Given the description of an element on the screen output the (x, y) to click on. 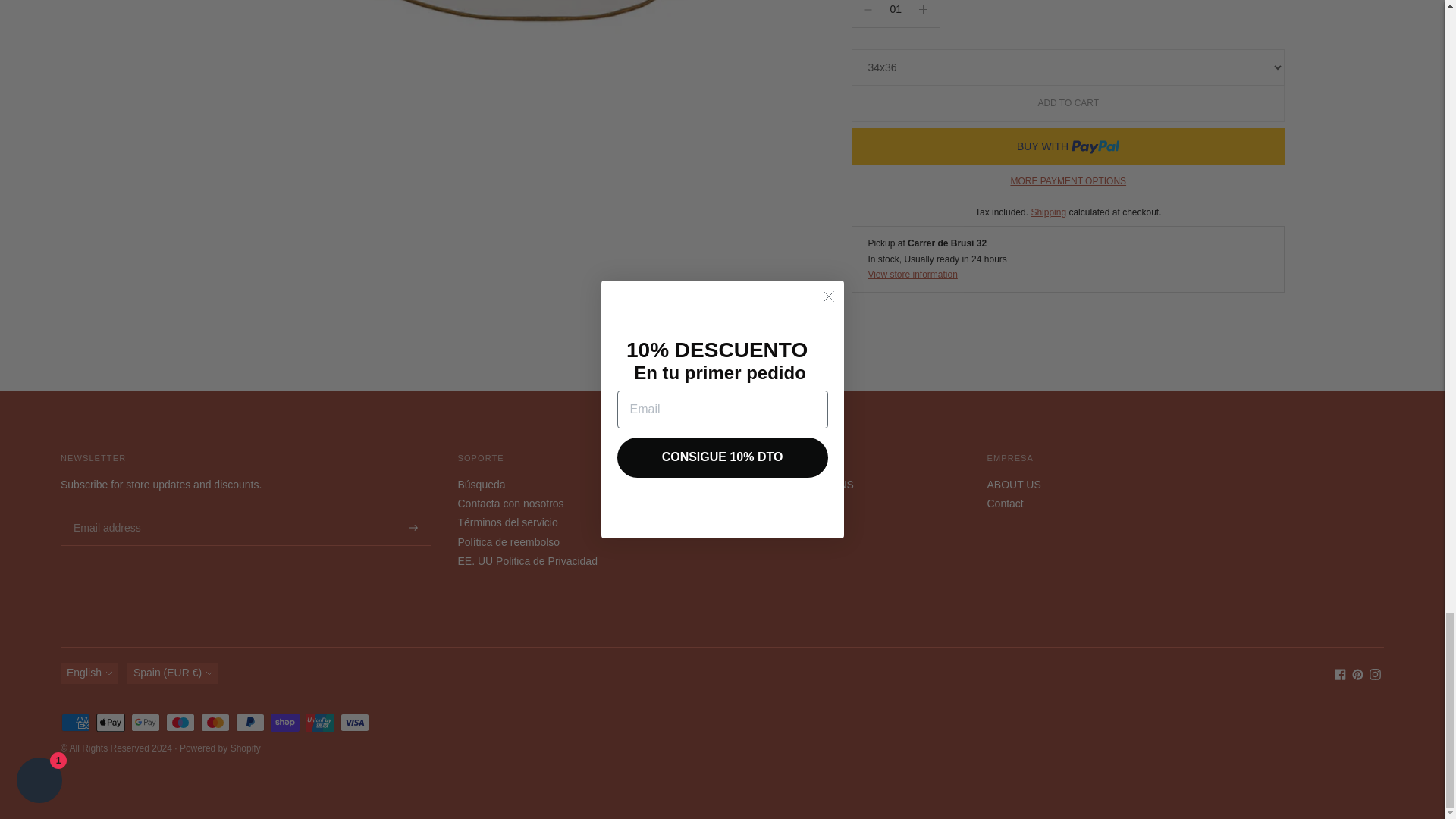
FILOCOLORE on Instagram (1375, 676)
FILOCOLORE on Facebook (1340, 676)
FILOCOLORE on Pinterest (1357, 676)
